Given the description of an element on the screen output the (x, y) to click on. 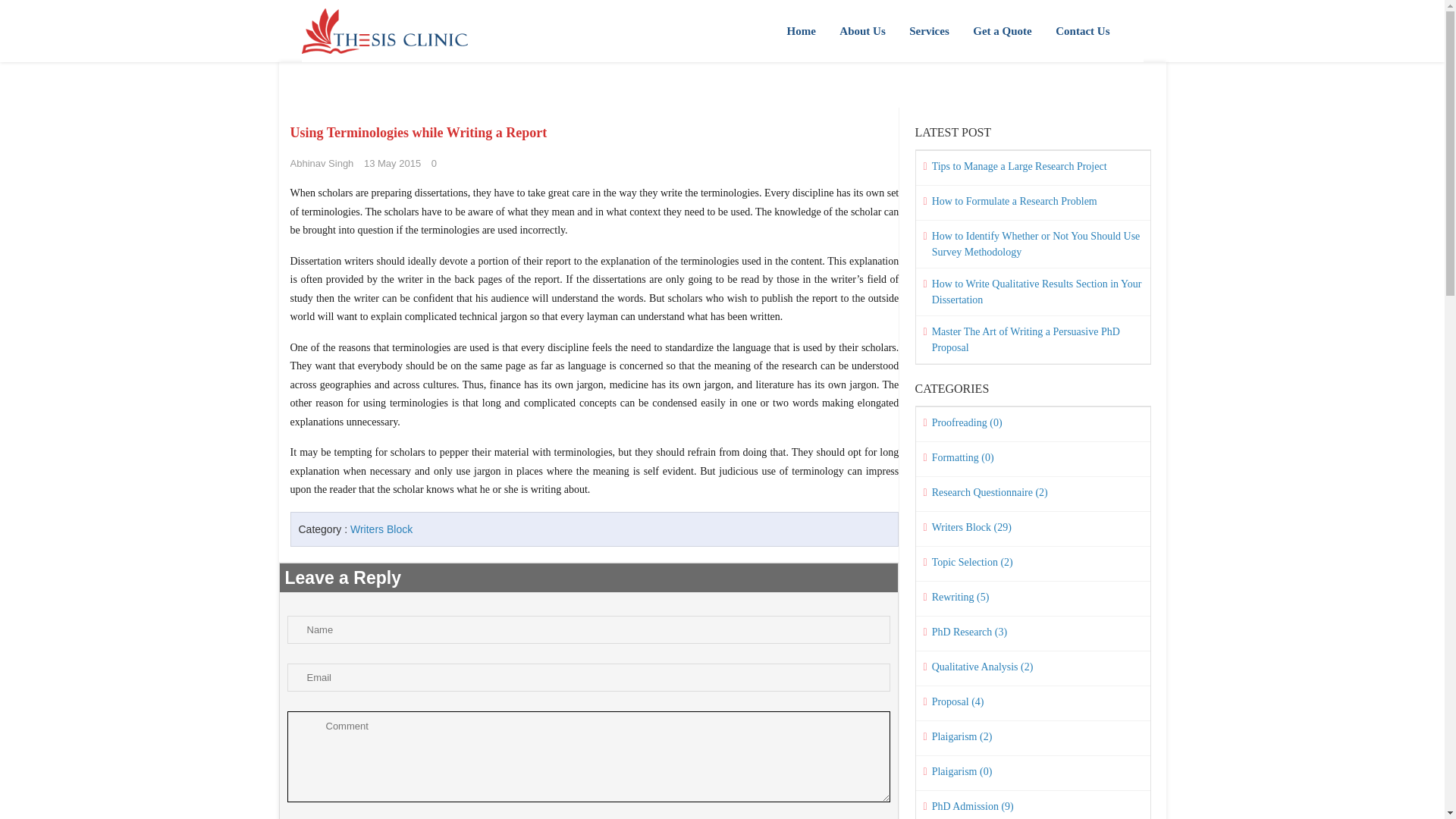
Plaigarism (1032, 737)
Tips to Manage a Large Research Project (1032, 167)
13 May 2015 (392, 163)
About Us (861, 31)
Master The Art of Writing a Persuasive PhD Proposal (1032, 339)
Rewriting (1032, 598)
Qualitative Analysis (1032, 668)
Topic Selection (1032, 563)
How to Formulate a Research Problem (1032, 202)
Using Terminologies while Writing a Report (418, 132)
Research Questionnaire (1032, 493)
How to Formulate a Research Problem (1032, 202)
Abhinav Singh (321, 163)
